Given the description of an element on the screen output the (x, y) to click on. 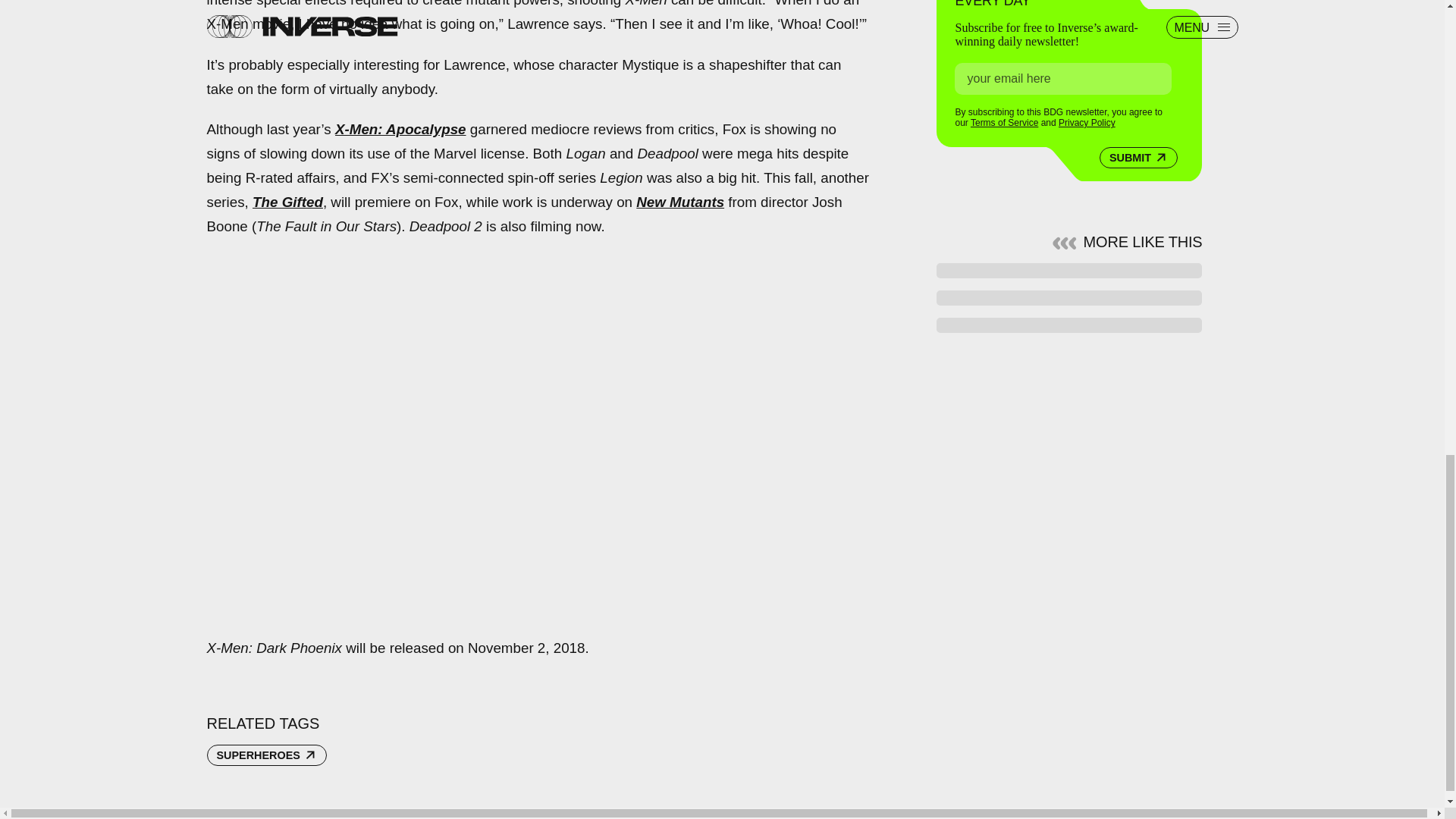
Terms of Service (1004, 122)
Privacy Policy (1086, 122)
SUPERHEROES (266, 754)
X-Men: Apocalypse (399, 129)
The Gifted (287, 201)
SUBMIT (1138, 157)
New Mutants (679, 201)
